Given the description of an element on the screen output the (x, y) to click on. 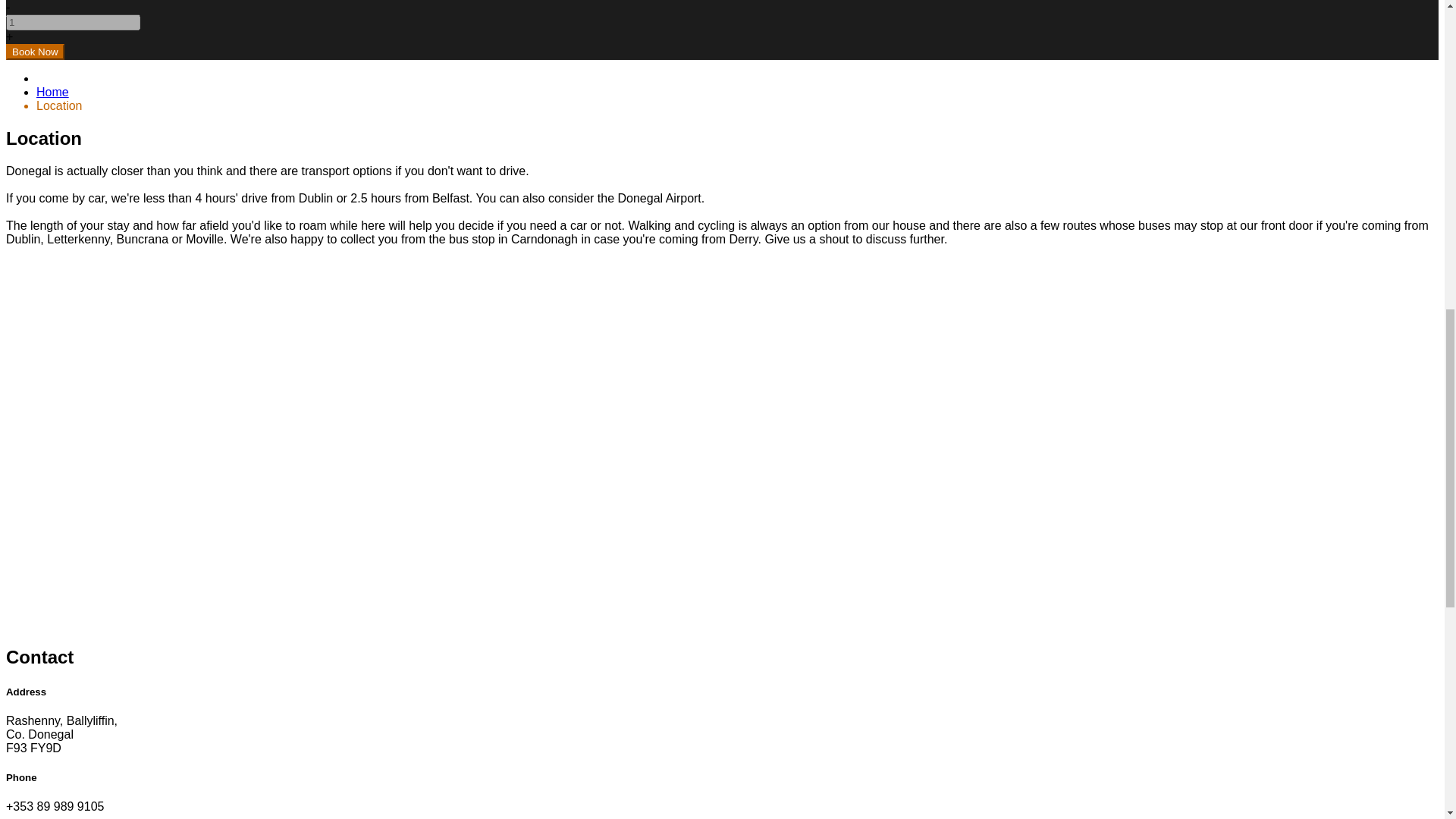
Home (52, 91)
Book Now (34, 51)
Book Now (34, 51)
1 (72, 22)
